Given the description of an element on the screen output the (x, y) to click on. 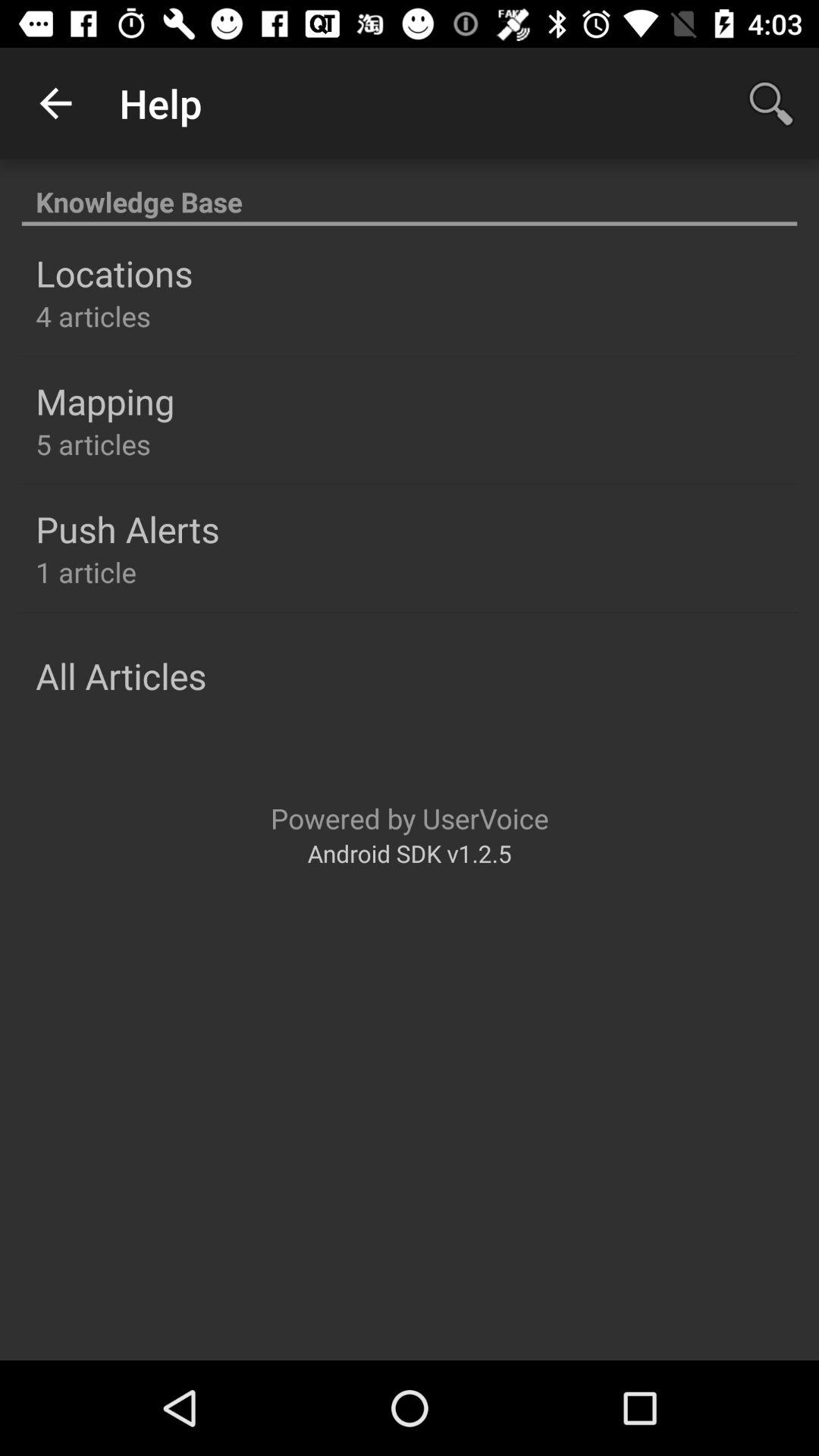
click push alerts icon (127, 529)
